Given the description of an element on the screen output the (x, y) to click on. 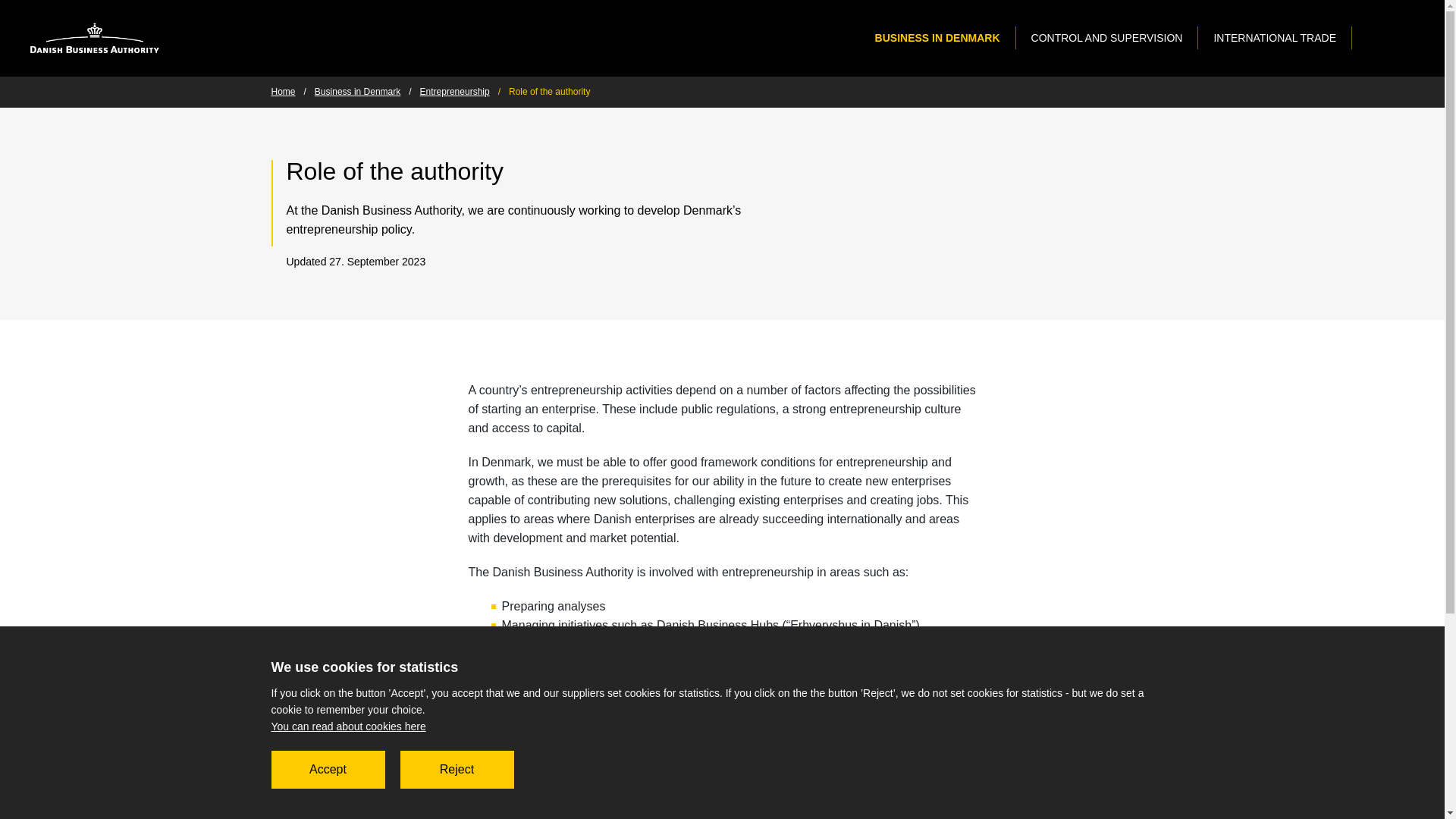
BUSINESS IN DENMARK (937, 37)
Reject (456, 769)
You can read about cookies here (348, 726)
INTERNATIONAL TRADE (1273, 37)
Entrepreneurship (454, 90)
Accept (327, 769)
Print (1145, 171)
Business in Denmark (357, 90)
CONTROL AND SUPERVISION (1106, 37)
Home (282, 90)
